Given the description of an element on the screen output the (x, y) to click on. 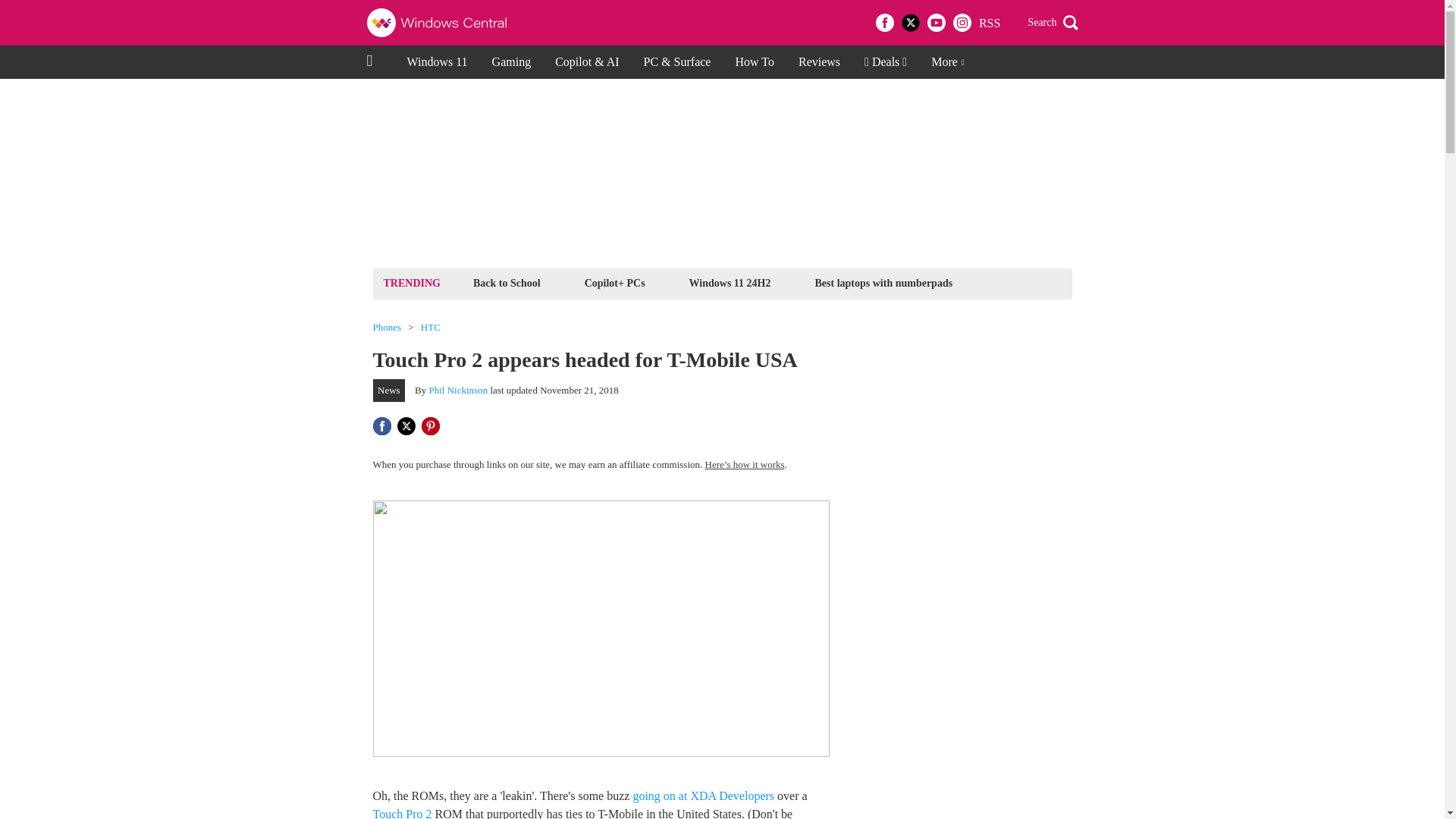
Touch Pro 2 (402, 813)
Windows 11 24H2 (730, 282)
Phil Nickinson (458, 389)
How To (754, 61)
Gaming (511, 61)
Reviews (818, 61)
RSS (989, 22)
Back to School (506, 282)
Best laptops with numberpads (883, 282)
going on at XDA Developers (702, 795)
